Given the description of an element on the screen output the (x, y) to click on. 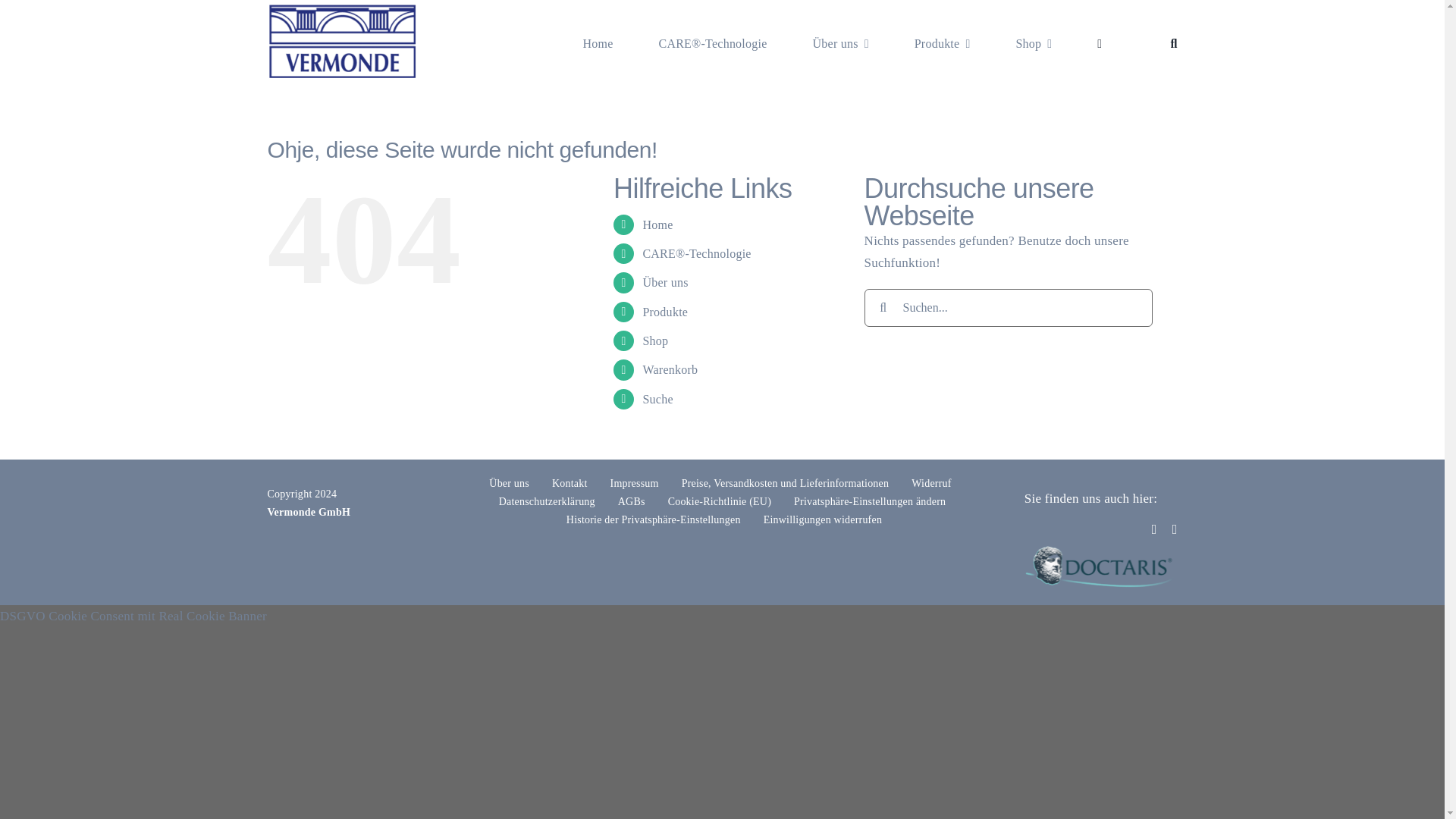
Produkte (942, 43)
Shop (1032, 43)
Home (597, 43)
